Given the description of an element on the screen output the (x, y) to click on. 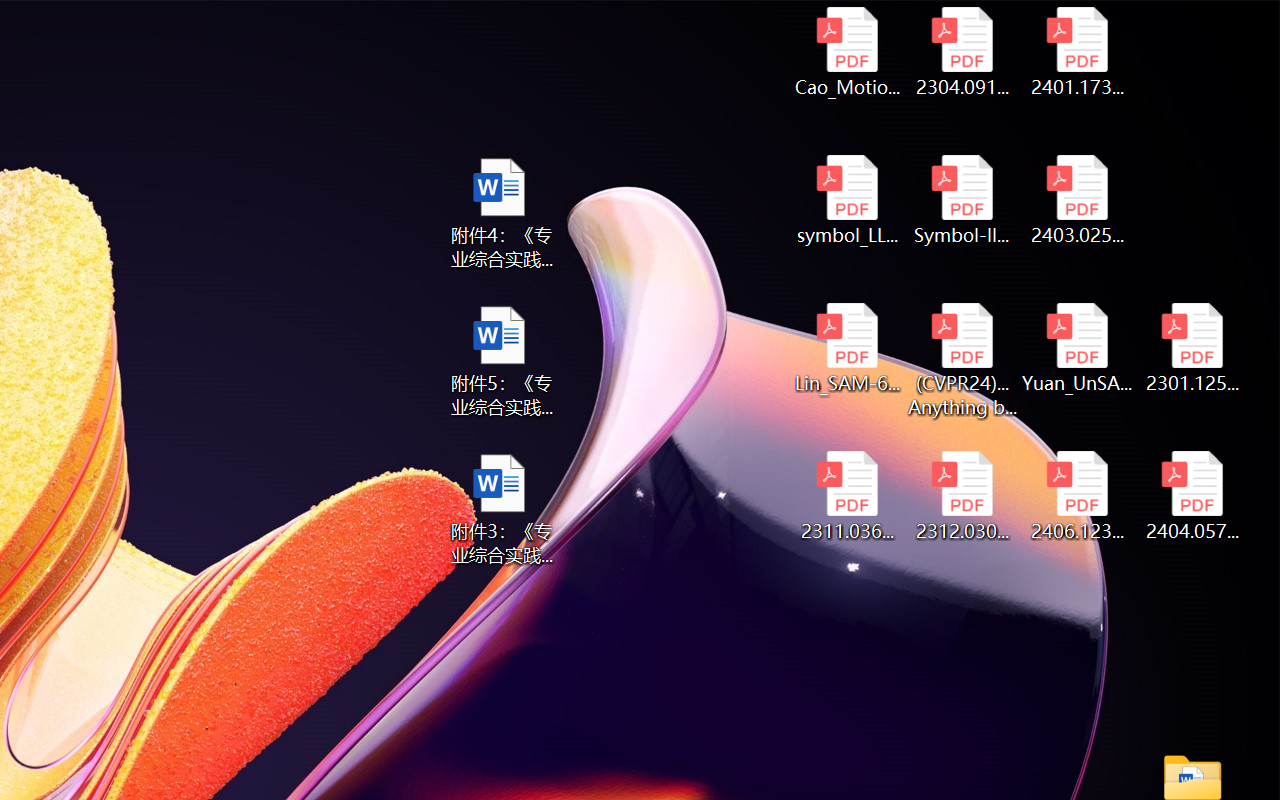
2406.12373v2.pdf (1077, 496)
2304.09121v3.pdf (962, 52)
2312.03032v2.pdf (962, 496)
2404.05719v1.pdf (1192, 496)
Symbol-llm-v2.pdf (962, 200)
2301.12597v3.pdf (1192, 348)
2403.02502v1.pdf (1077, 200)
2401.17399v1.pdf (1077, 52)
2311.03658v2.pdf (846, 496)
symbol_LLM.pdf (846, 200)
